Given the description of an element on the screen output the (x, y) to click on. 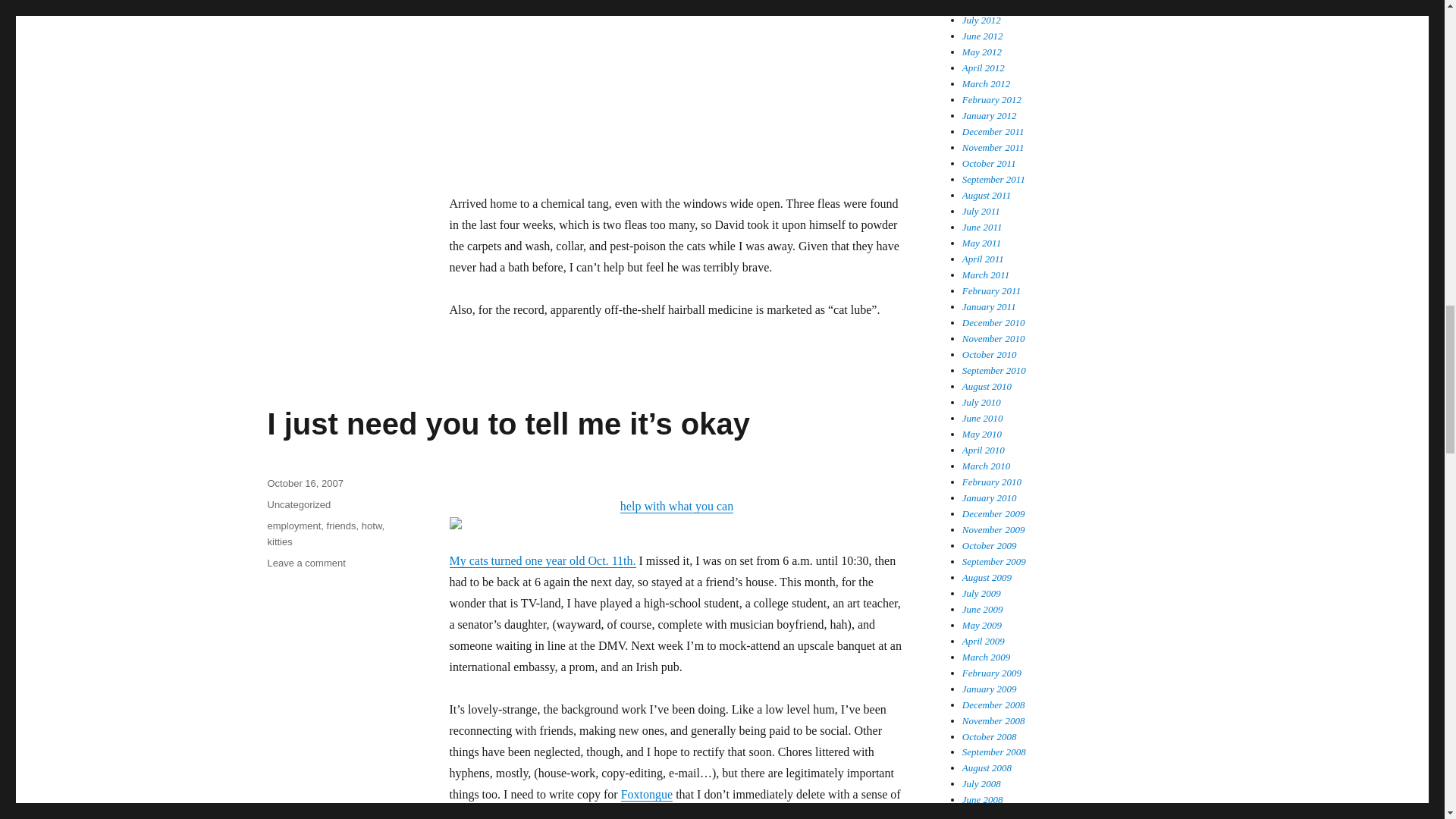
hotw (371, 525)
tanith by Foxtongue, on Flickr (676, 85)
friends (341, 525)
kitties (279, 541)
October 16, 2007 (304, 482)
employment (293, 525)
My cats turned one year old Oct. 11th. (541, 560)
Uncategorized (298, 504)
help with what you can (676, 514)
Foxtongue (646, 793)
